Given the description of an element on the screen output the (x, y) to click on. 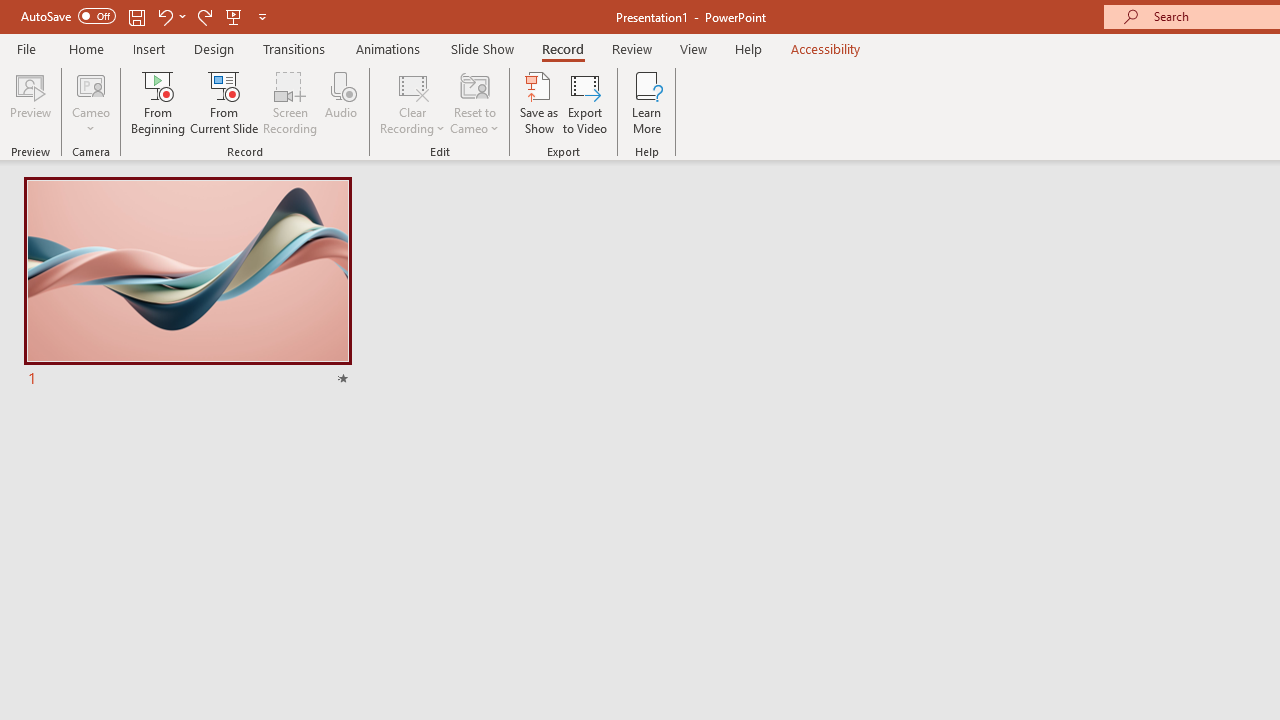
From Beginning... (158, 102)
Clear Recording (412, 102)
